Given the description of an element on the screen output the (x, y) to click on. 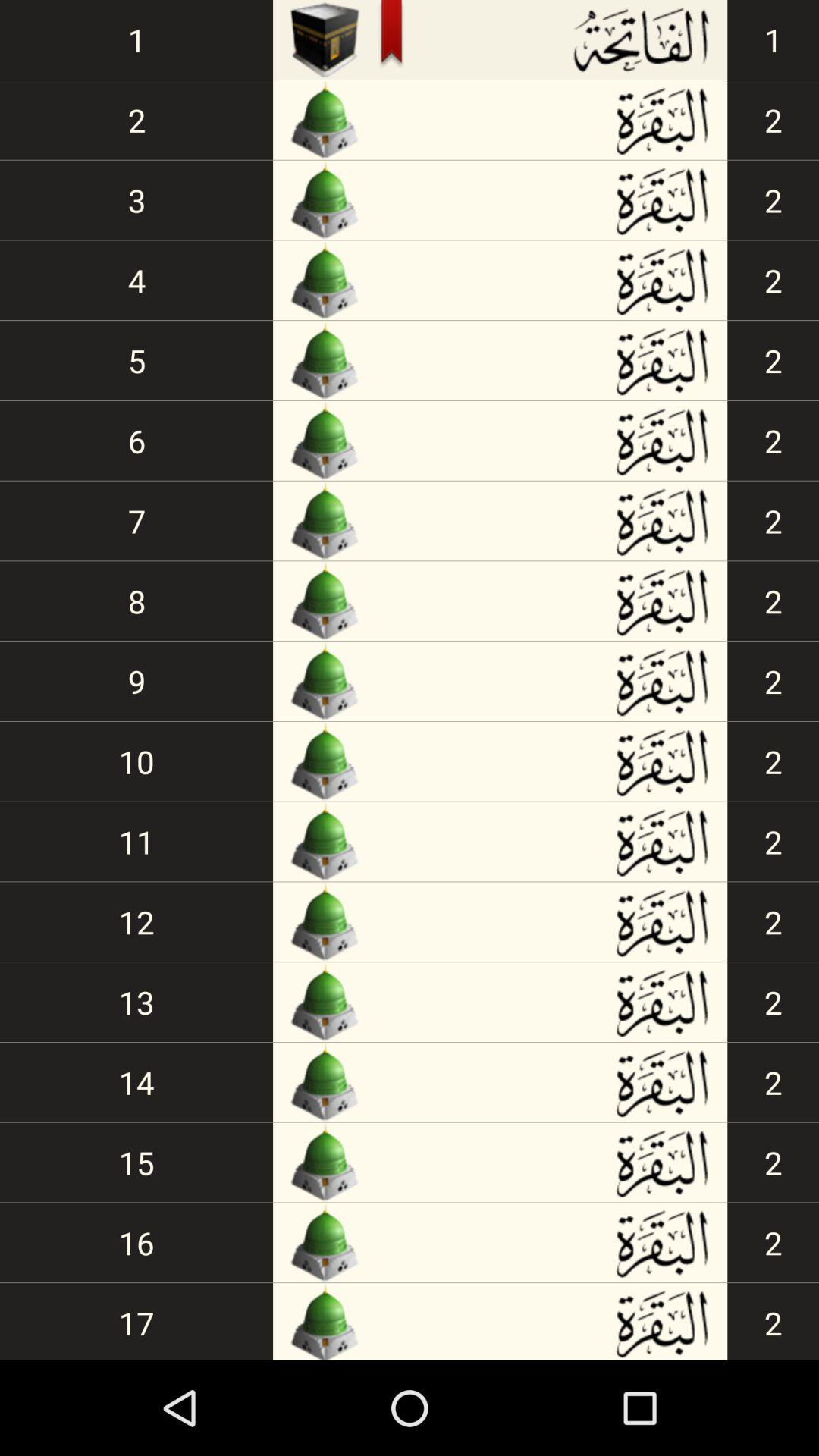
scroll until 11 (136, 841)
